Given the description of an element on the screen output the (x, y) to click on. 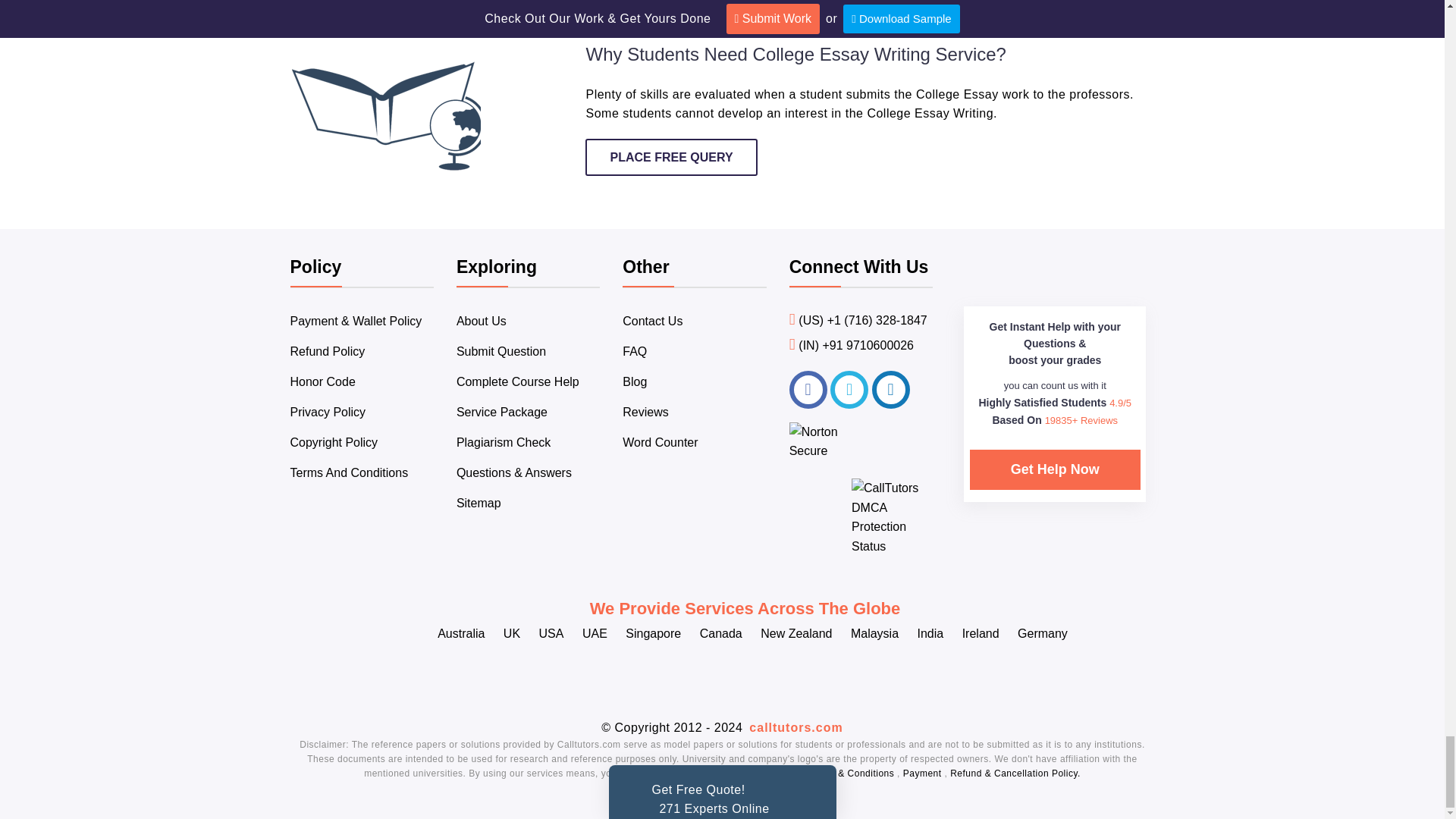
CallTutors DMCA.com Protection Status (892, 545)
Facebook (808, 389)
Twitter (848, 389)
Linked In (891, 389)
